Given the description of an element on the screen output the (x, y) to click on. 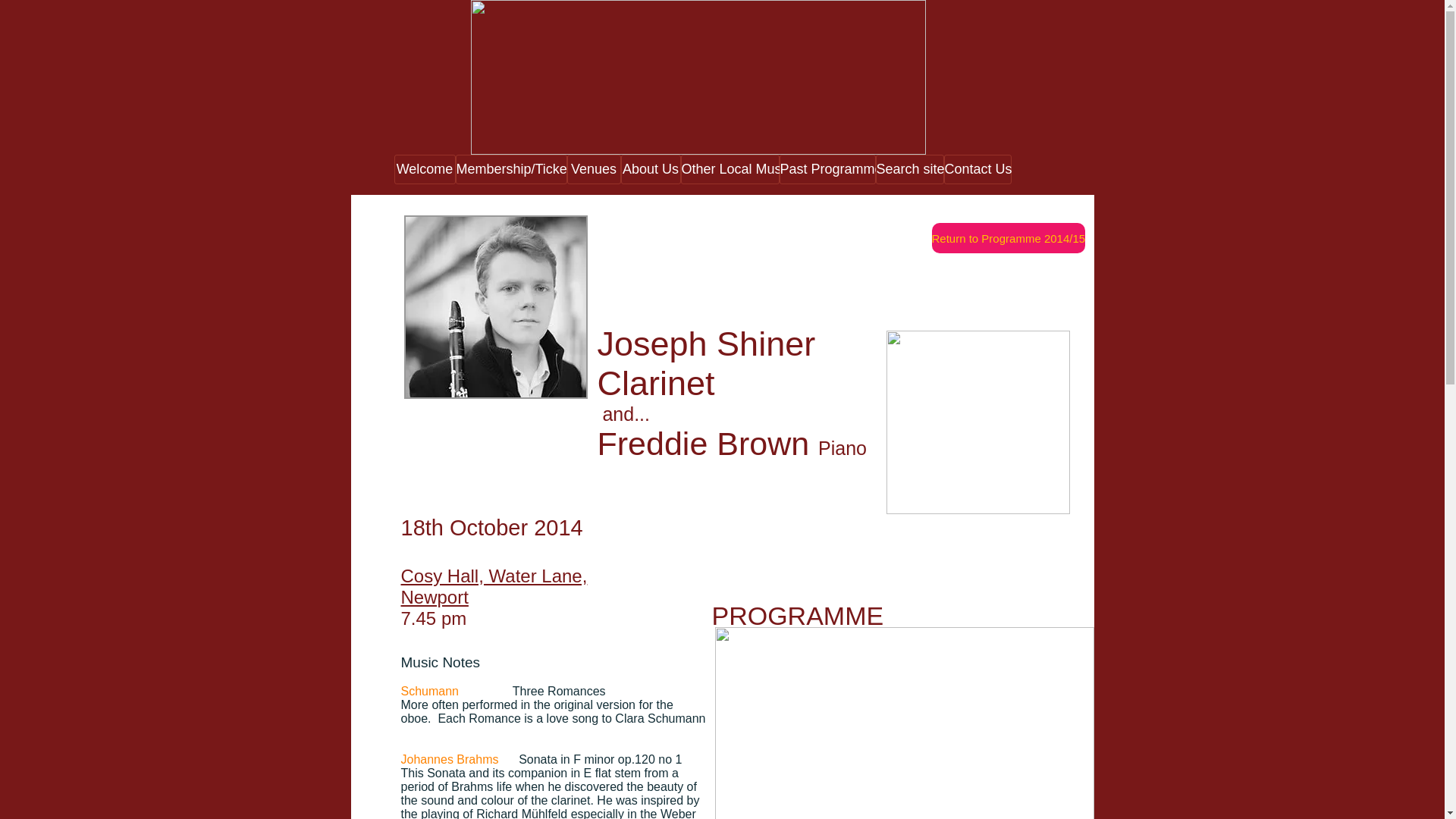
Welcome (424, 169)
Search site (909, 169)
Contact Us (976, 169)
Cosy Hall, Water Lane, Newport (493, 586)
About Us (649, 169)
Venues (594, 169)
